Given the description of an element on the screen output the (x, y) to click on. 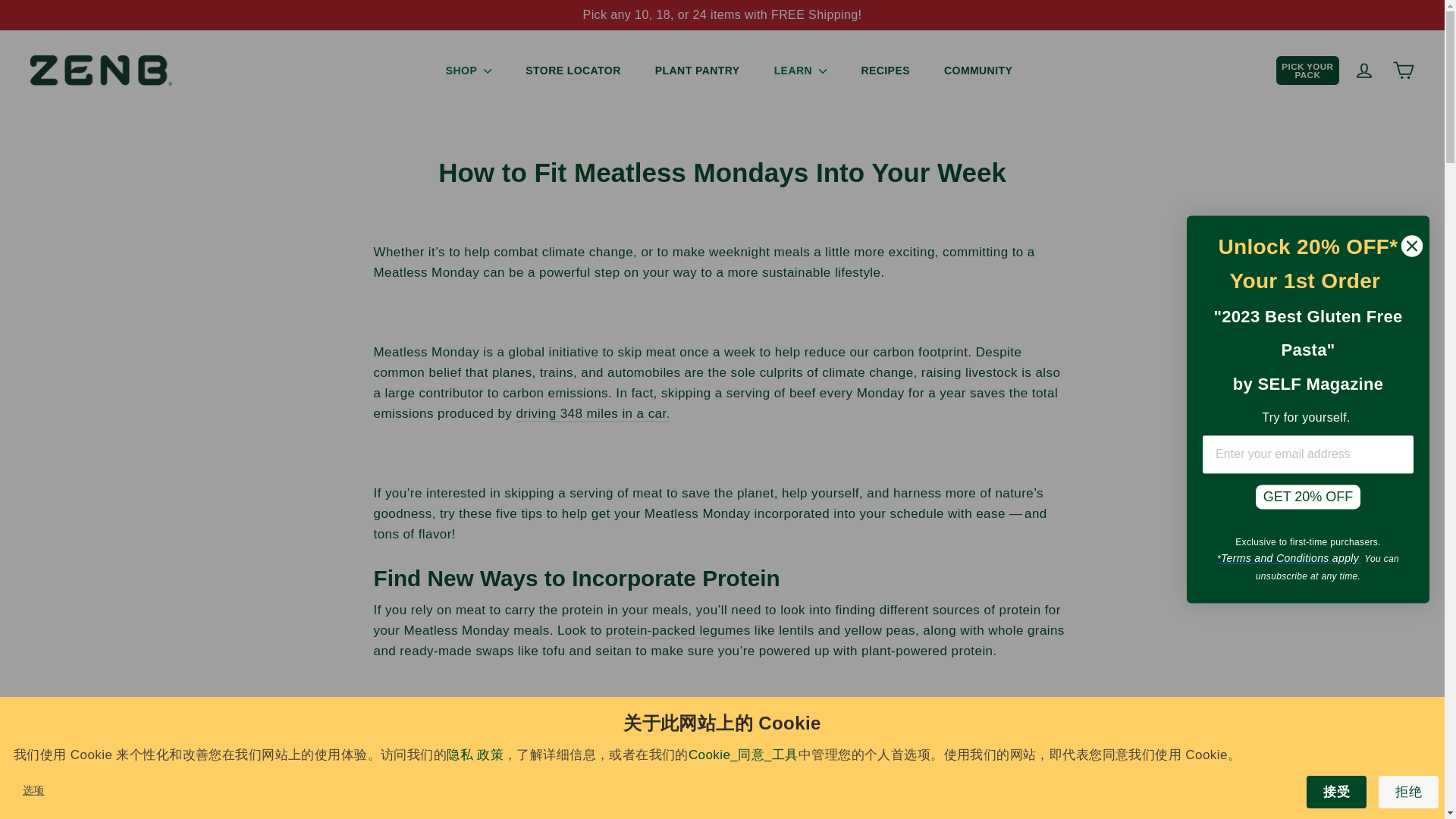
ZENB You Pick It Pack (722, 14)
Pick any 10, 18, or 24 items with FREE Shipping! (722, 14)
SHOP (468, 70)
